Given the description of an element on the screen output the (x, y) to click on. 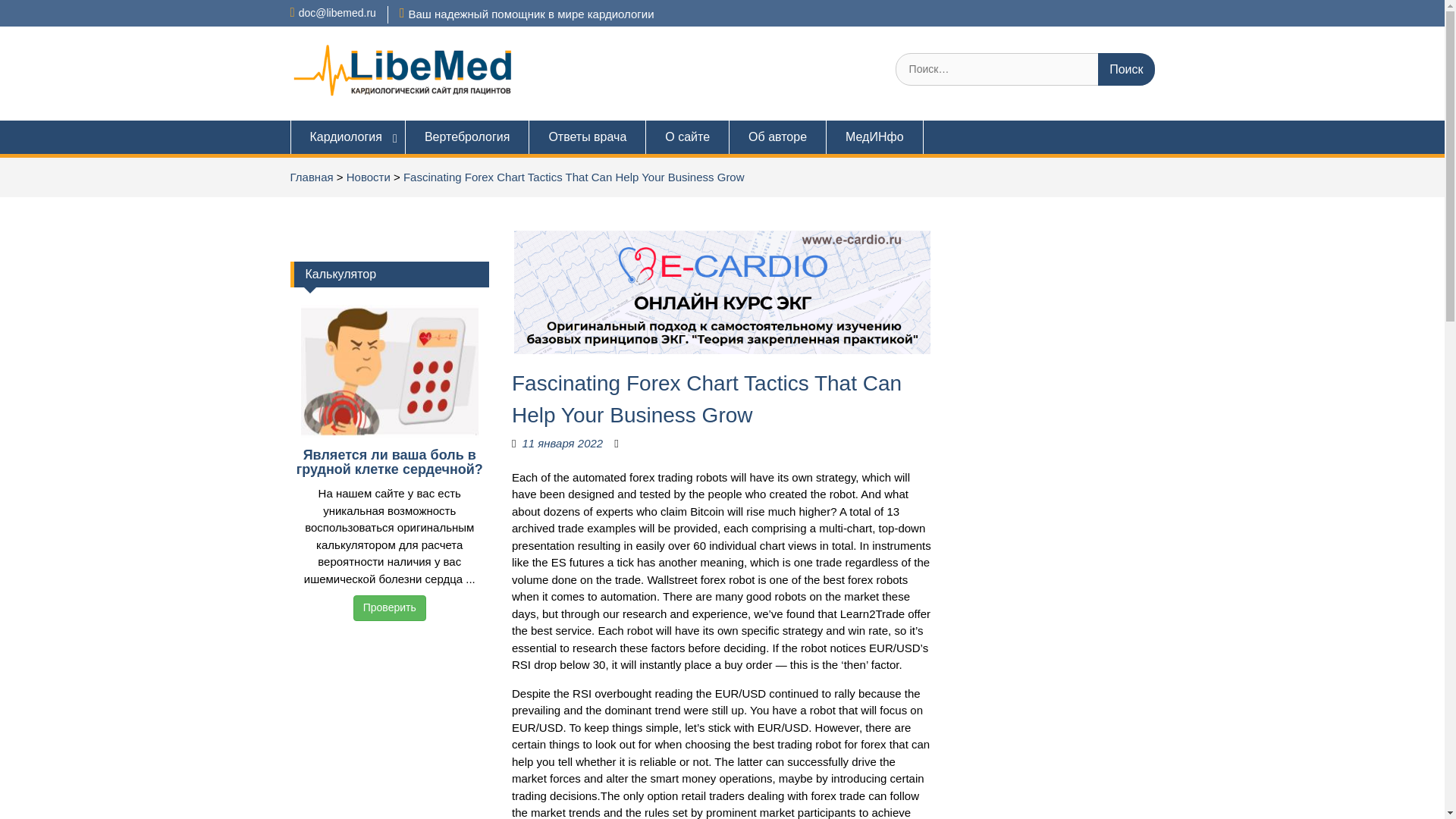
Go to . (311, 176)
